Given the description of an element on the screen output the (x, y) to click on. 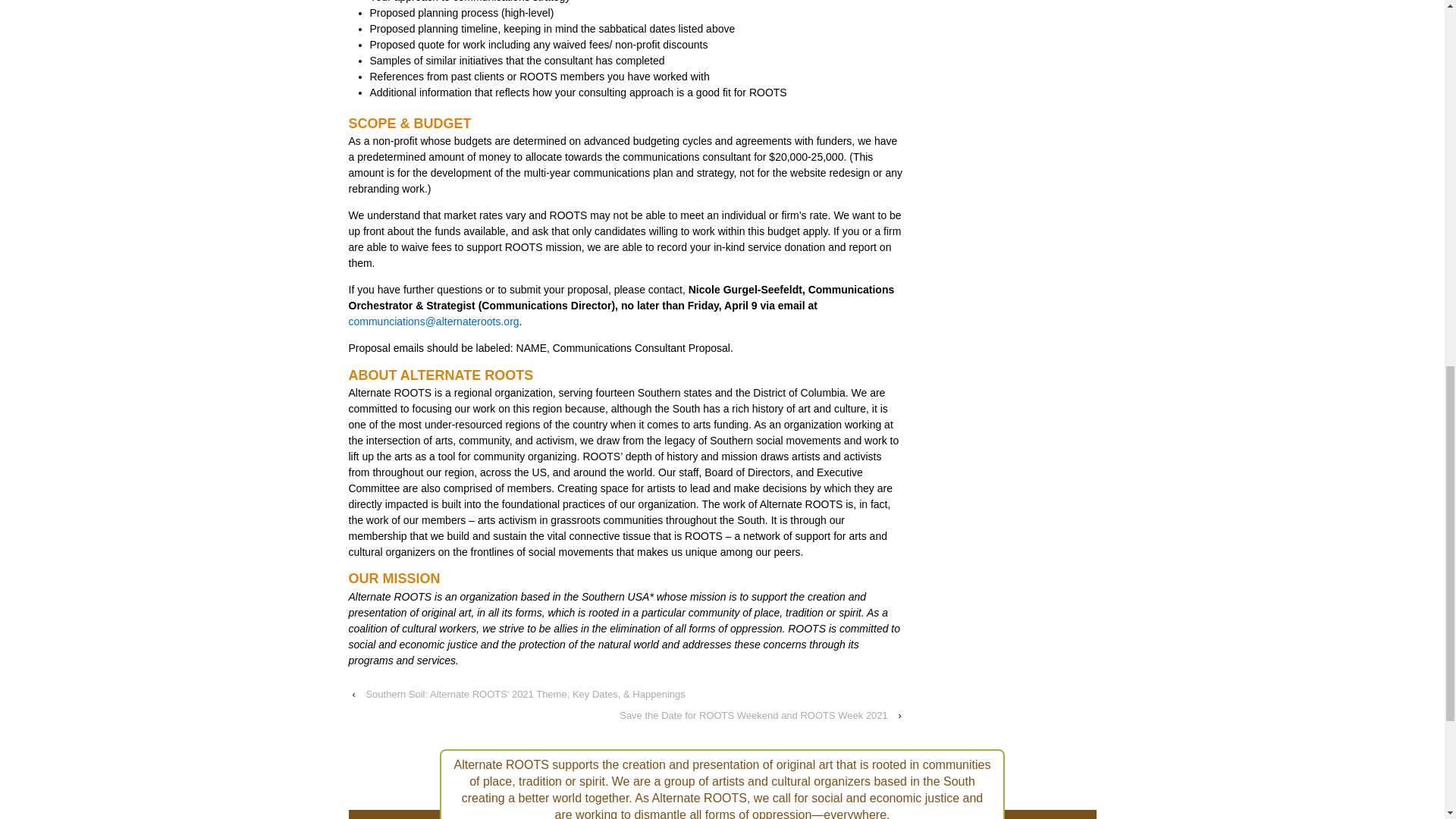
Save the Date for ROOTS Weekend and ROOTS Week 2021 (753, 714)
